Given the description of an element on the screen output the (x, y) to click on. 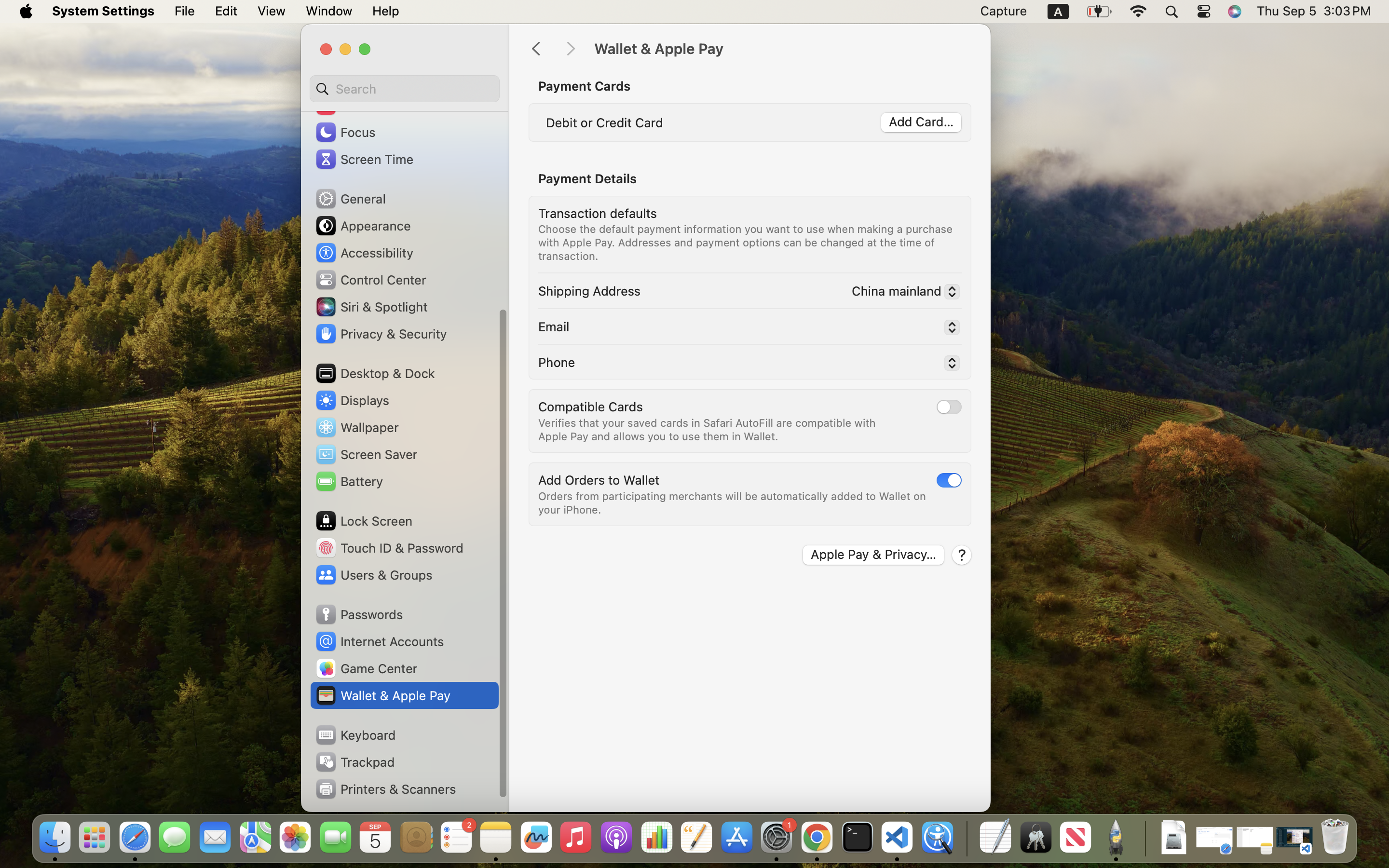
Lock Screen Element type: AXStaticText (363, 520)
Battery Element type: AXStaticText (348, 480)
Phone Element type: AXStaticText (556, 361)
Privacy & Security Element type: AXStaticText (380, 333)
Passwords Element type: AXStaticText (358, 613)
